Given the description of an element on the screen output the (x, y) to click on. 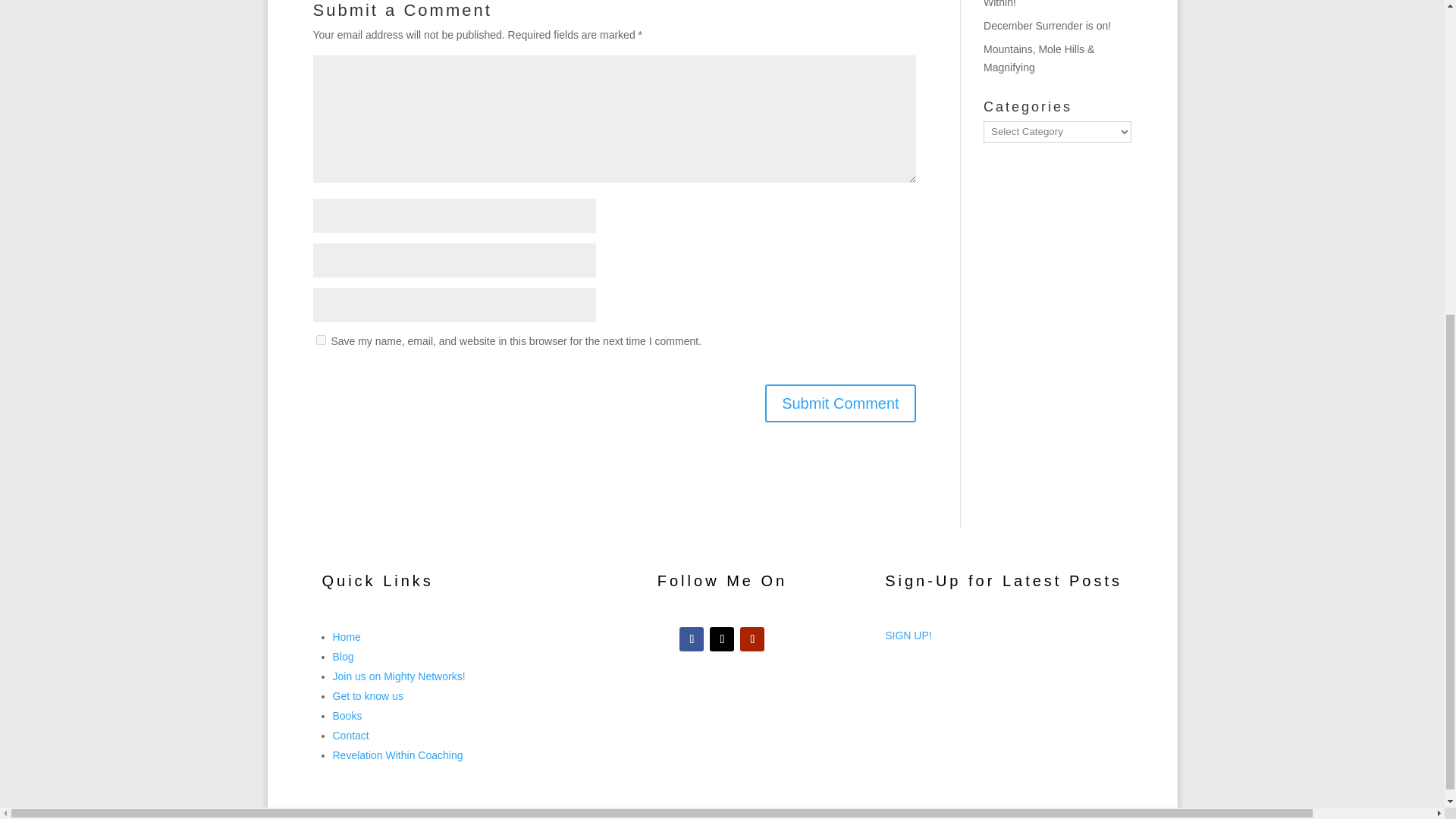
Follow on Youtube (751, 639)
yes (319, 339)
Submit Comment (840, 403)
Submit Comment (840, 403)
Follow on X (721, 639)
Follow on Facebook (691, 639)
